Given the description of an element on the screen output the (x, y) to click on. 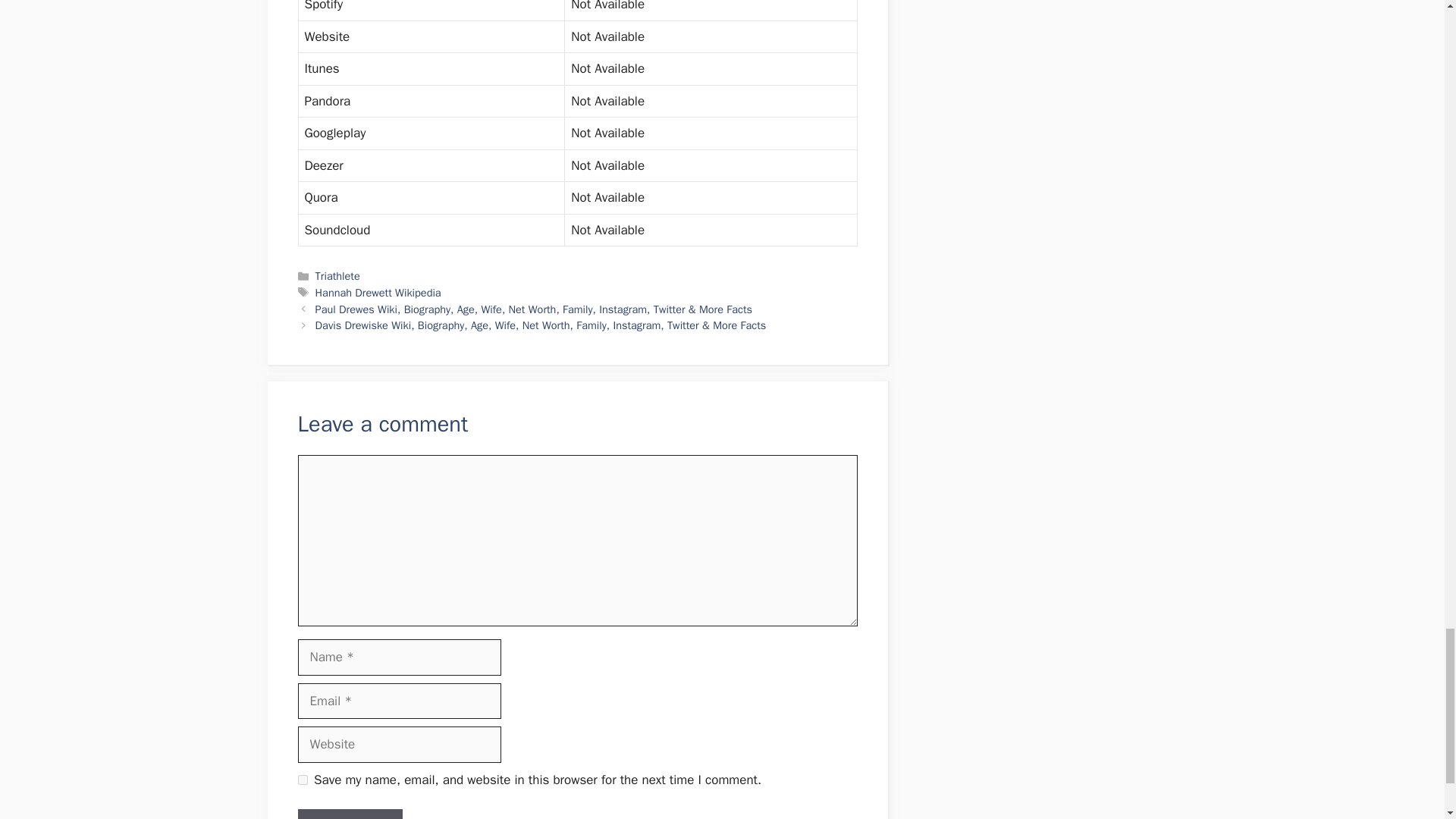
Hannah Drewett Wikipedia (378, 292)
Post Comment (349, 814)
Post Comment (349, 814)
yes (302, 779)
Triathlete (337, 275)
